Given the description of an element on the screen output the (x, y) to click on. 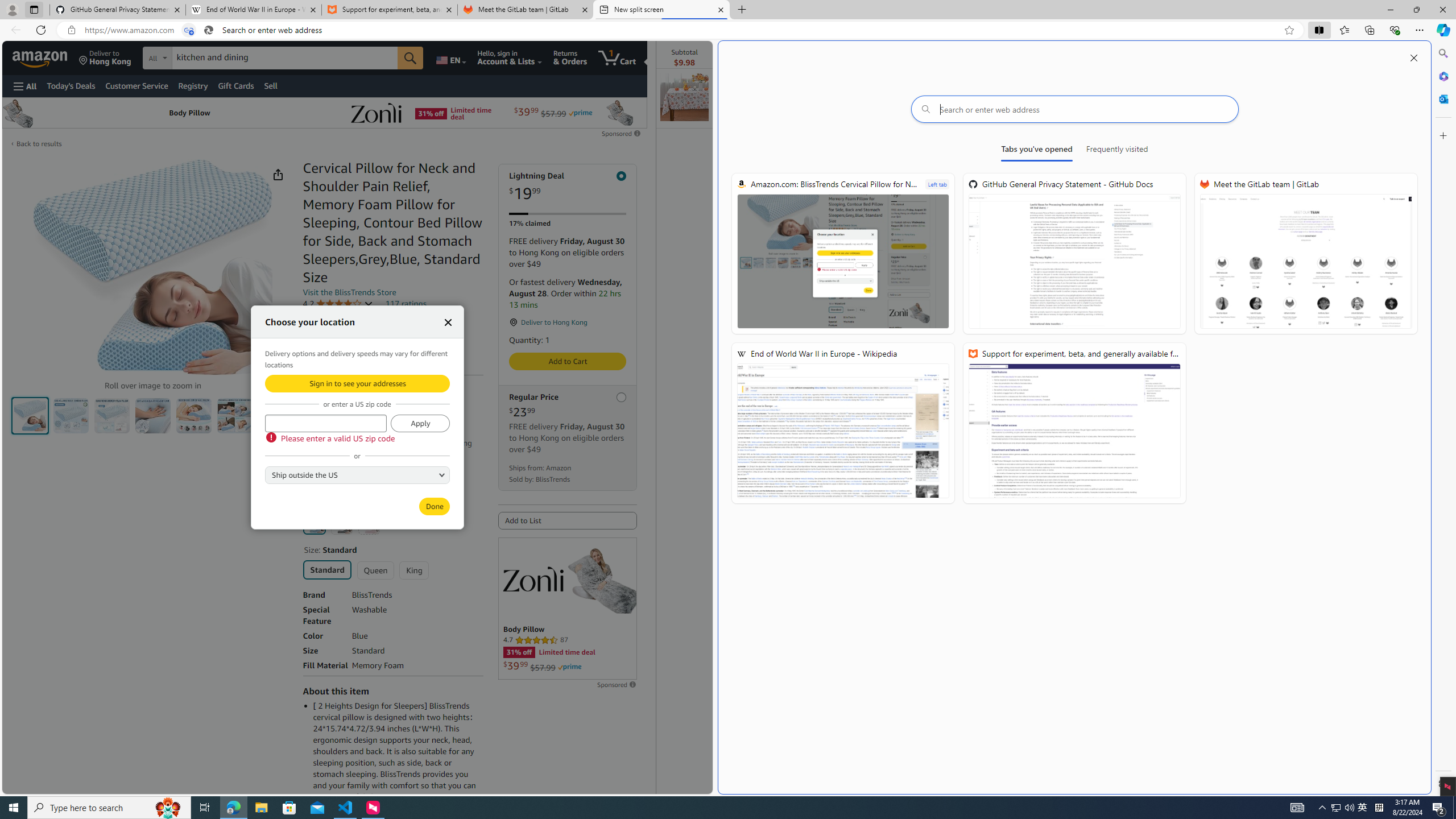
Meet the GitLab team | GitLab (525, 9)
GitHub General Privacy Statement - GitHub Docs (117, 9)
Queen (374, 570)
Sign in to see your addresses (356, 383)
Search icon (208, 29)
Deliver to Hong Kong (105, 57)
Tabs you've opened (1037, 151)
Choose a language for shopping. (450, 57)
Back to results (39, 143)
